Given the description of an element on the screen output the (x, y) to click on. 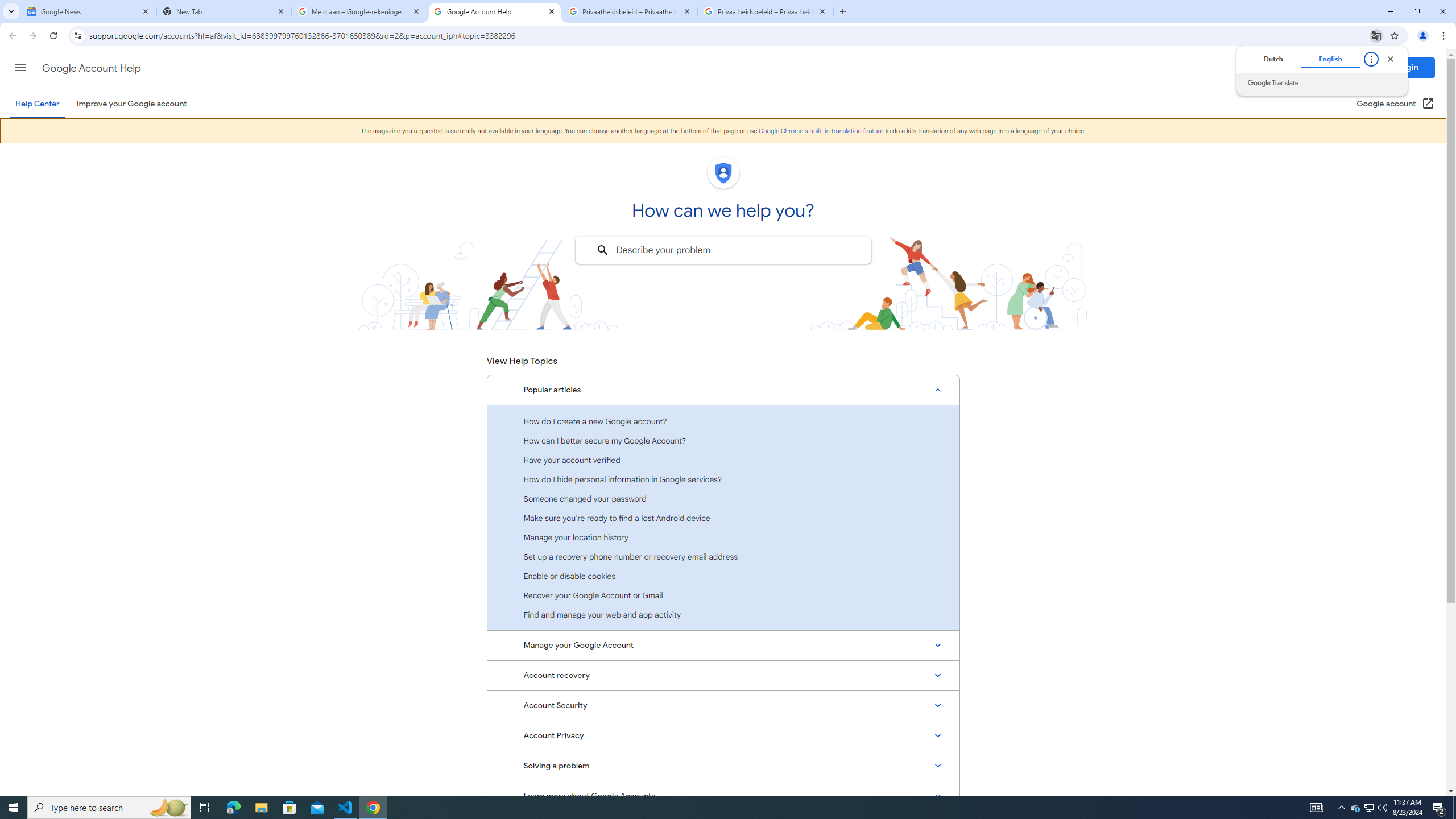
Action Center, 2 new notifications (1439, 807)
Account Security (1355, 807)
Google Chrome - 1 running window (722, 705)
Learn more about Google Accounts (373, 807)
Find and manage your web and app activity (722, 795)
Google Chrome's built-in translation feature (722, 614)
Task View (820, 130)
Notification Chevron (204, 807)
Google News (1341, 807)
